Given the description of an element on the screen output the (x, y) to click on. 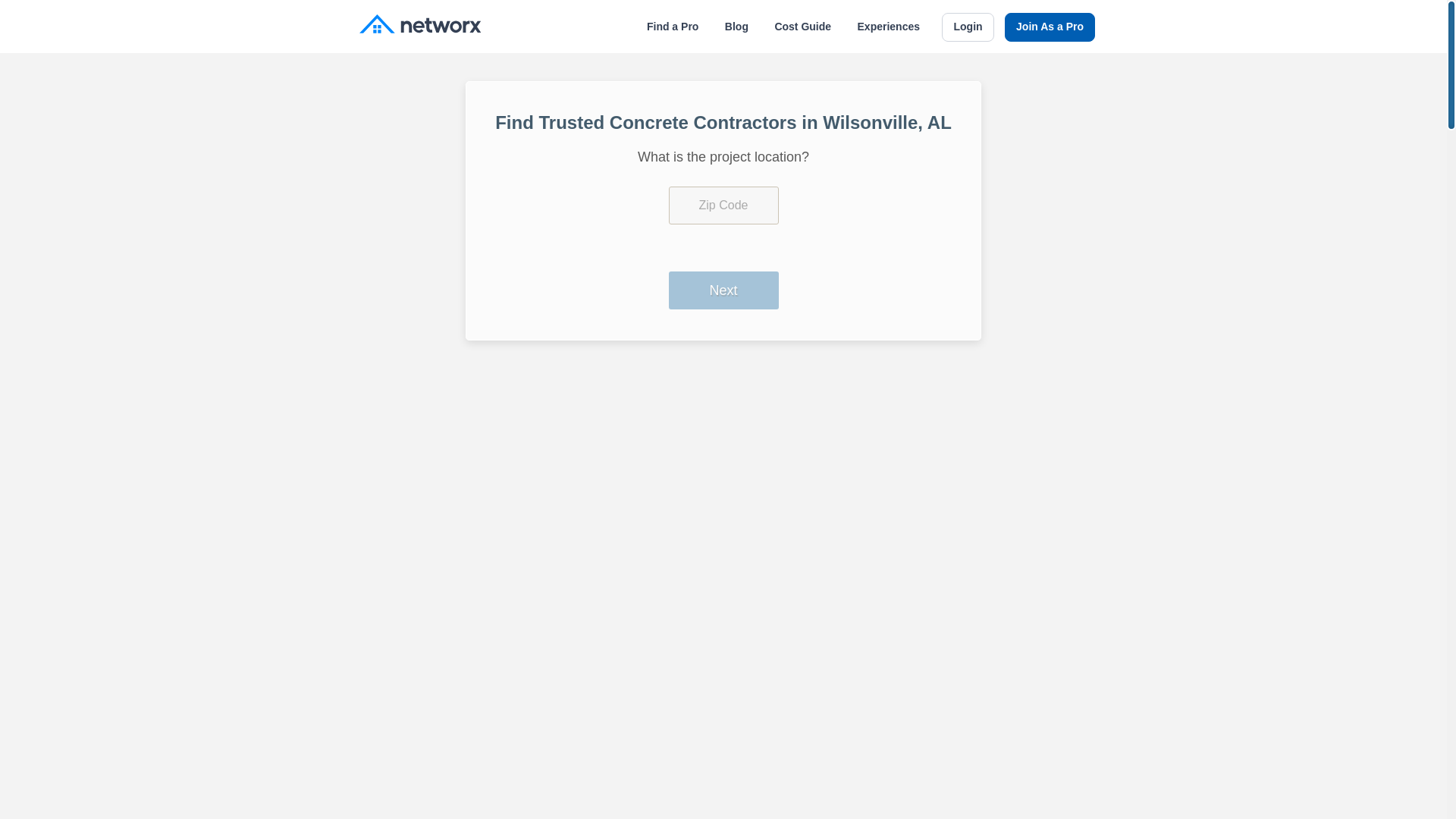
Next (723, 290)
Cost Guide (802, 26)
Please enter a valid zip code (723, 205)
Login (967, 27)
Experiences (888, 26)
Networx (419, 25)
Join As a Pro (1049, 27)
Find a Pro (672, 26)
